Given the description of an element on the screen output the (x, y) to click on. 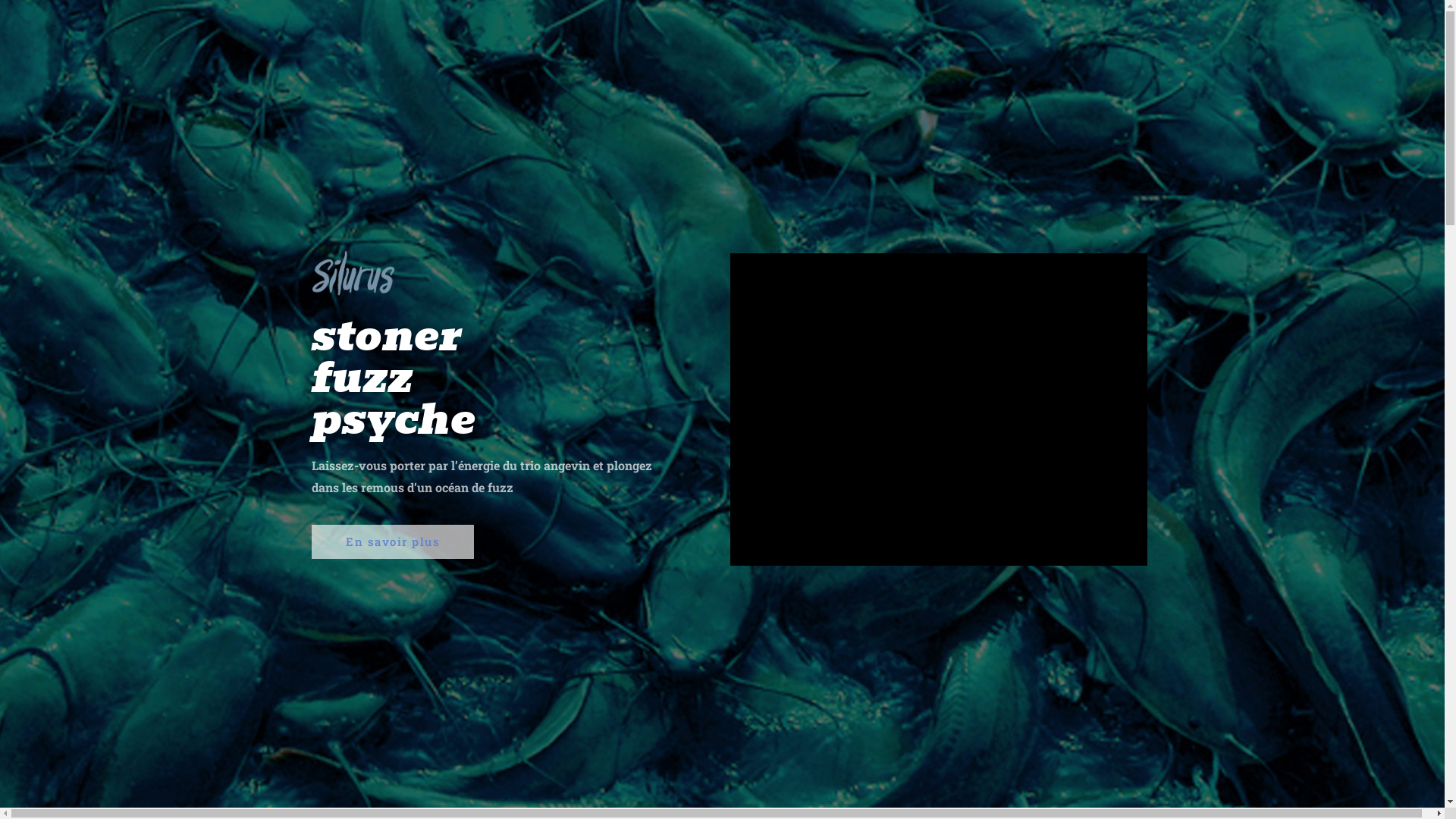
En savoir plus Element type: text (392, 541)
logo-silurus-ConvertImage Element type: hover (353, 271)
